Given the description of an element on the screen output the (x, y) to click on. 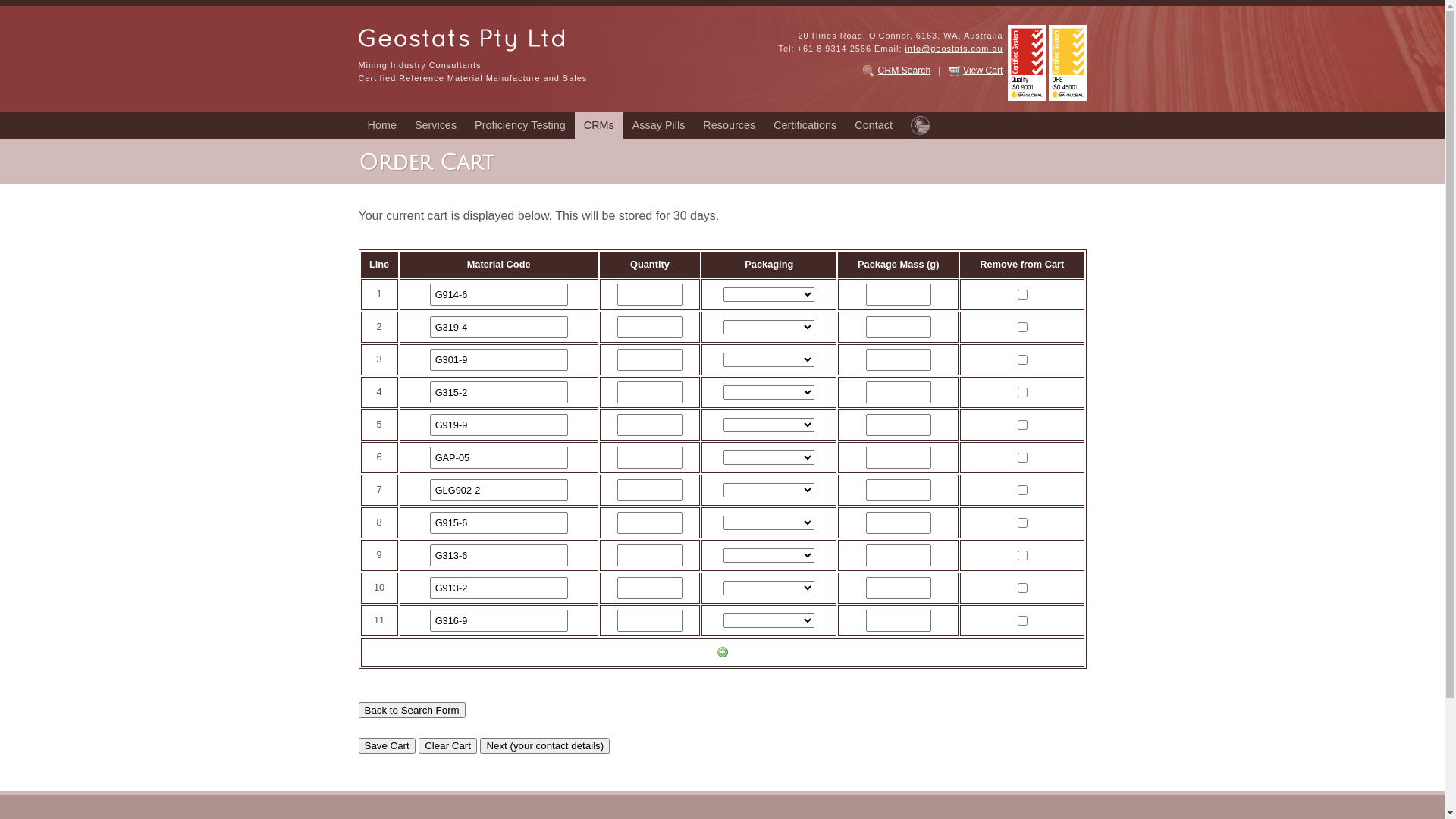
Proficiency Testing Element type: text (519, 125)
Services Element type: text (435, 125)
Resources Element type: text (728, 125)
Certifications Element type: text (804, 125)
Clear Cart Element type: text (447, 745)
AddItem Element type: text (722, 652)
Next (your contact details) Element type: text (544, 745)
CRMs Element type: text (598, 125)
View Cart Element type: text (982, 70)
Home Element type: text (380, 125)
Back to Search Form Element type: text (410, 710)
CRM Search Element type: text (904, 70)
info@geostats.com.au Element type: text (954, 48)
Assay Pills Element type: text (658, 125)
Contact Element type: text (873, 125)
Save Cart Element type: text (385, 745)
